Given the description of an element on the screen output the (x, y) to click on. 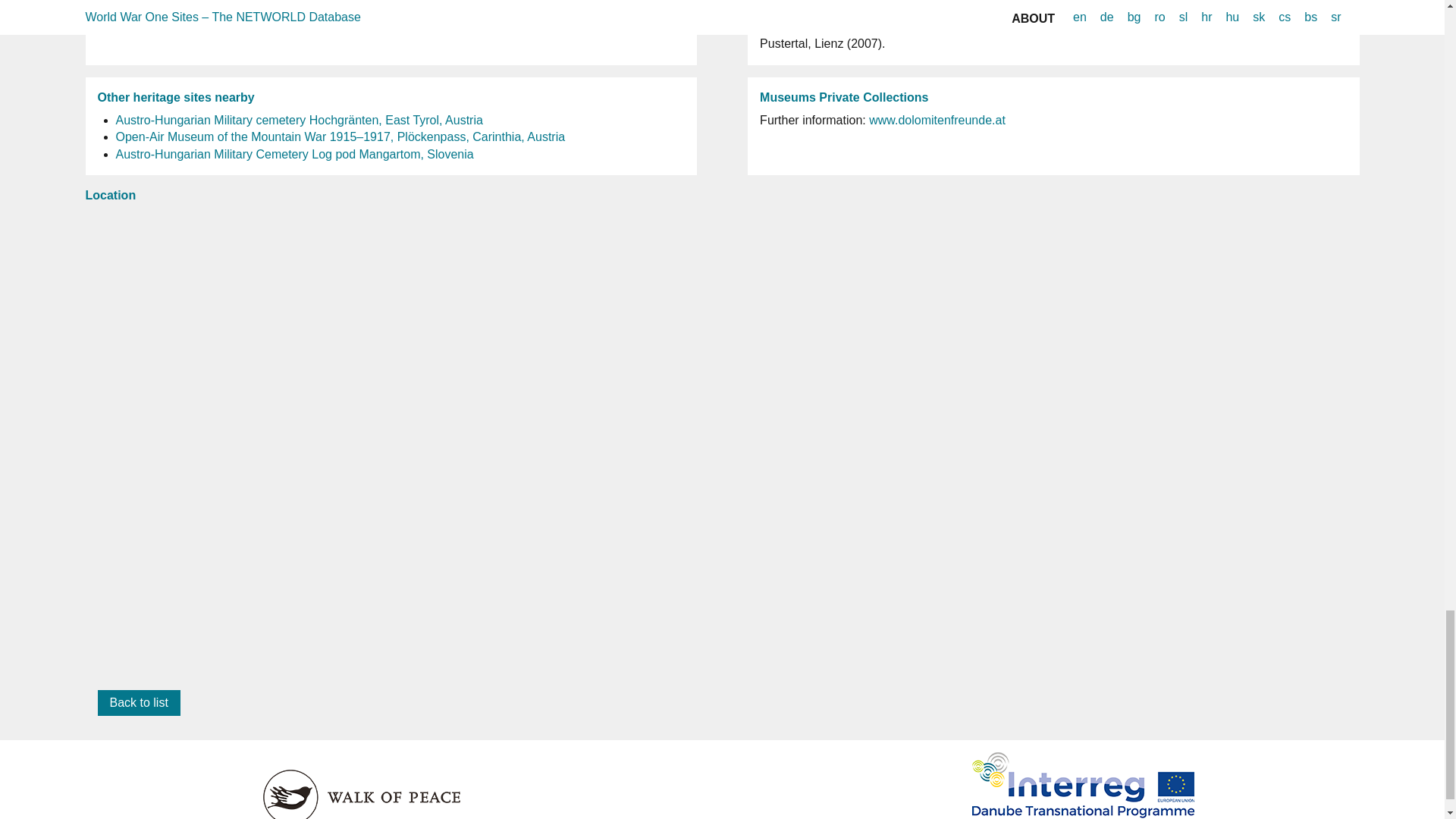
www.dolomitenfreunde.at (937, 119)
Back to list (138, 702)
